Given the description of an element on the screen output the (x, y) to click on. 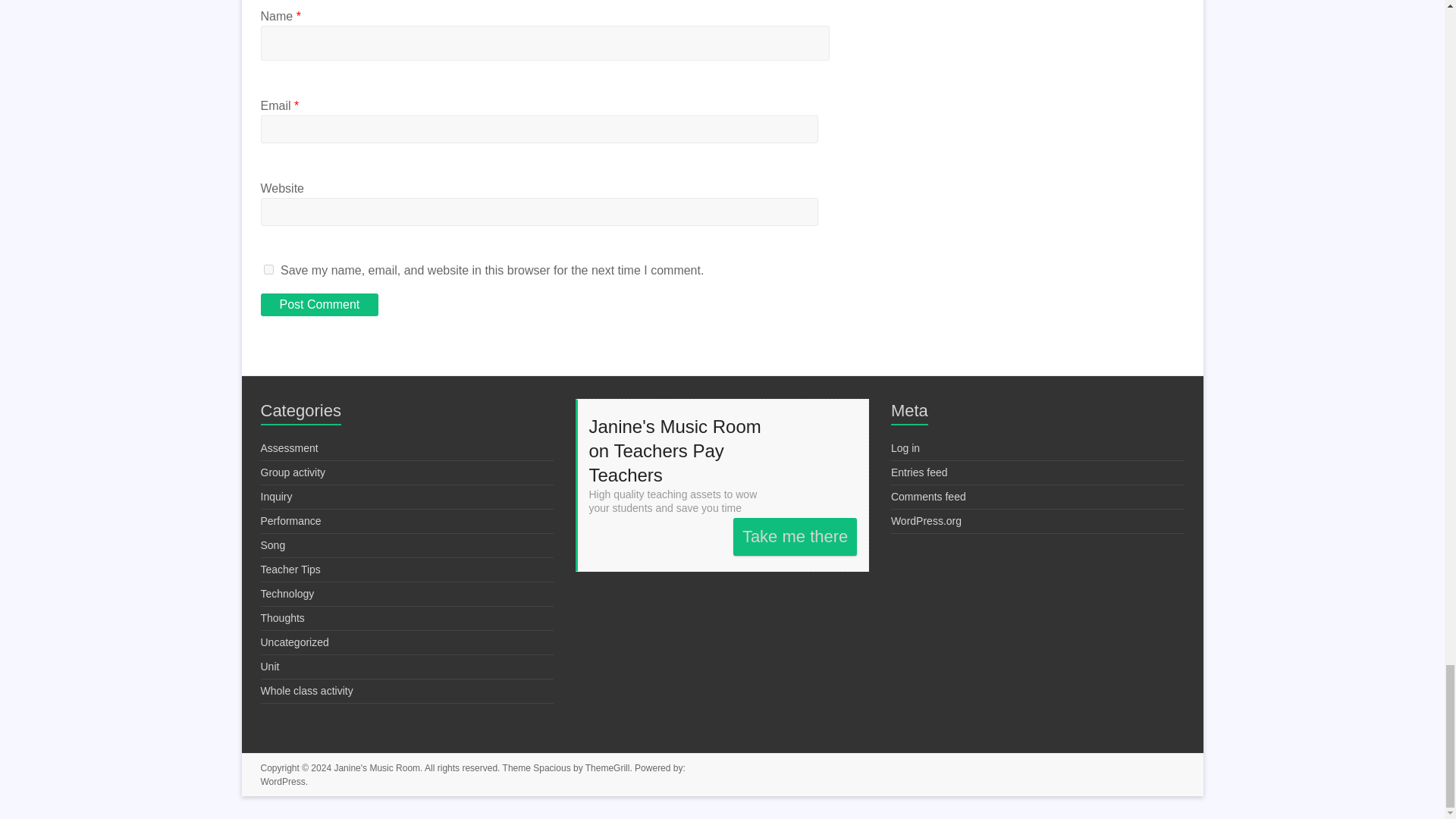
Spacious (551, 767)
Inquiry (276, 496)
Group activity (293, 472)
Post Comment (319, 304)
Teacher Tips (290, 569)
yes (268, 269)
WordPress (282, 781)
Take me there (795, 536)
Post Comment (319, 304)
Song (272, 544)
Performance (290, 521)
Assessment (289, 448)
Janine's Music Room (376, 767)
